Given the description of an element on the screen output the (x, y) to click on. 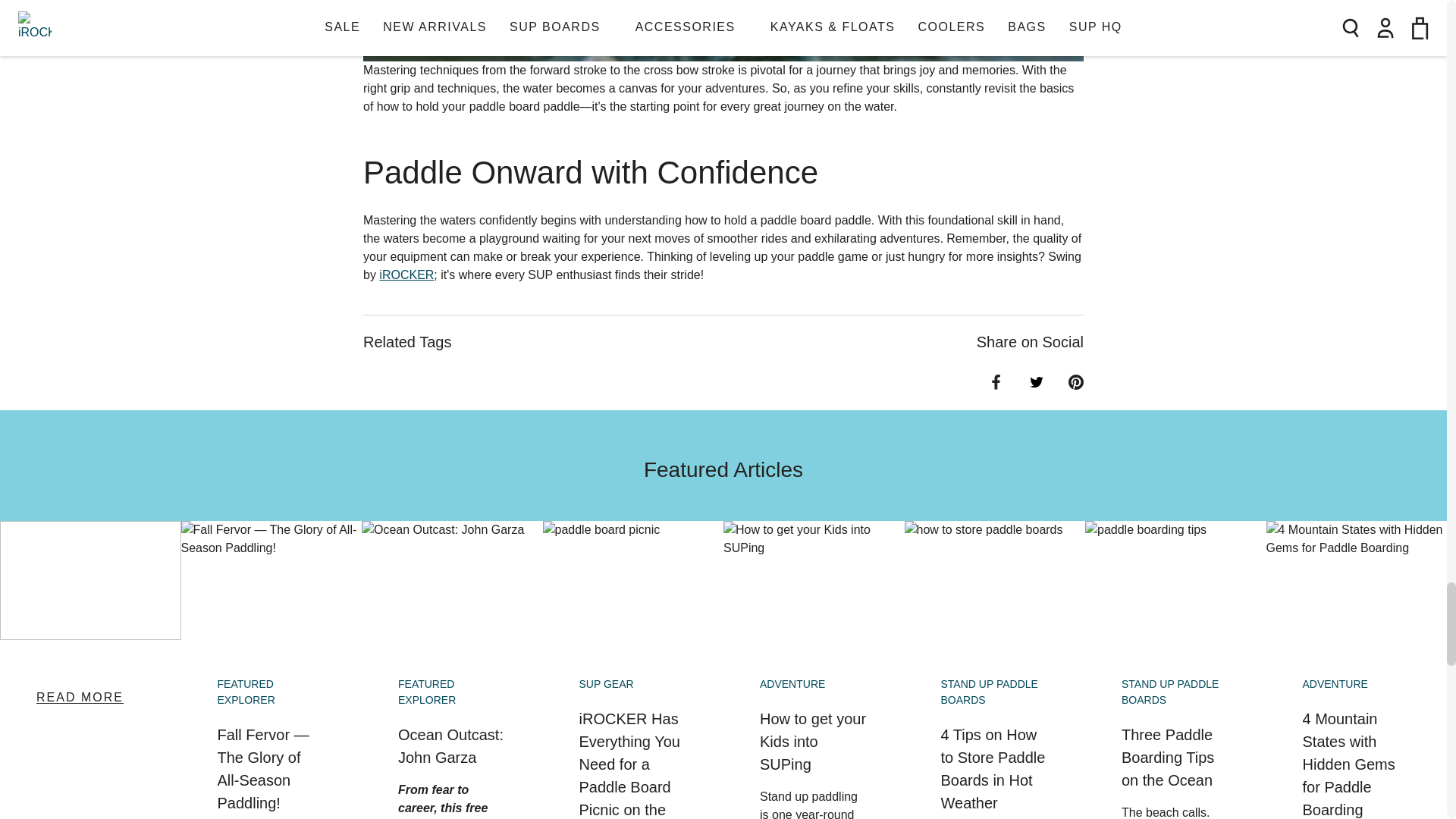
Go to carticle  (88, 697)
